Given the description of an element on the screen output the (x, y) to click on. 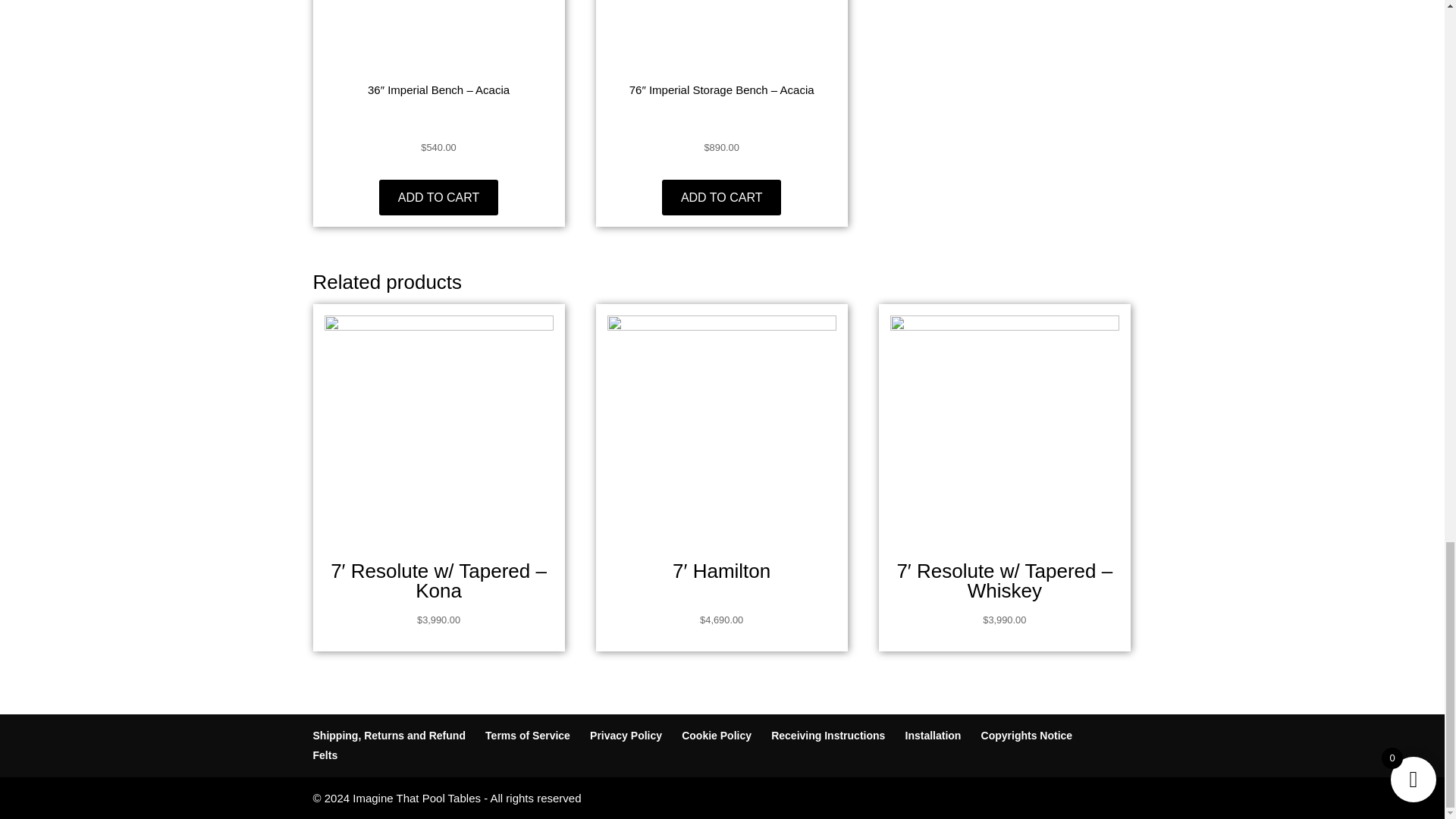
ADD TO CART (721, 197)
Terms of Service (527, 735)
Shipping, Returns and Refund (388, 735)
ADD TO CART (438, 197)
Privacy Policy (625, 735)
